Given the description of an element on the screen output the (x, y) to click on. 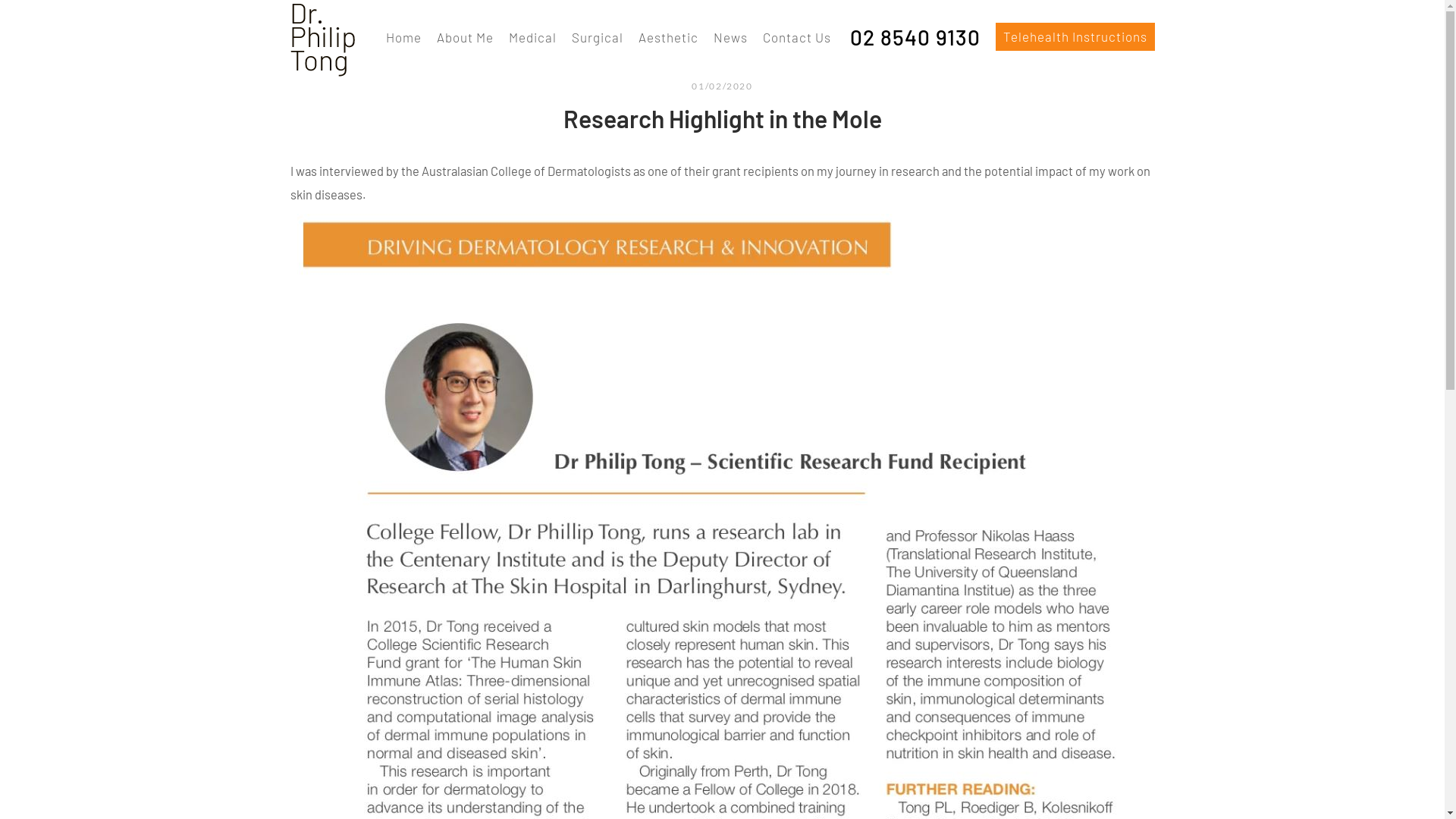
Contact Us Element type: text (796, 37)
News Element type: text (729, 37)
Surgical Element type: text (597, 37)
02 8540 9130 Element type: text (913, 37)
Aesthetic Element type: text (668, 37)
Medical Element type: text (531, 37)
Telehealth Instructions Element type: text (1074, 36)
Skip to content Element type: text (0, 0)
Home Element type: text (402, 37)
Home Element type: text (321, 39)
About Me Element type: text (464, 37)
